Given the description of an element on the screen output the (x, y) to click on. 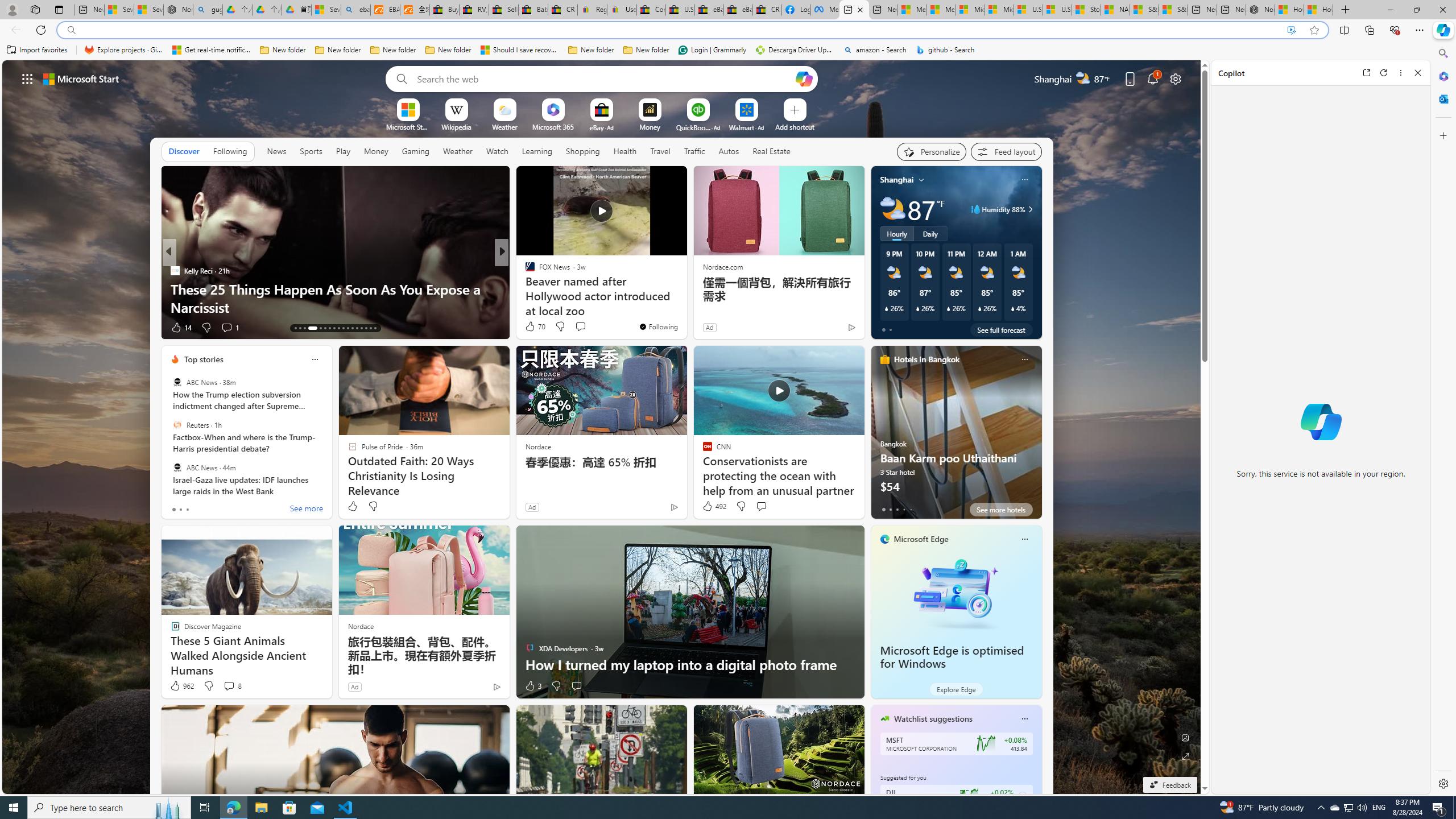
Feed settings (1005, 151)
App launcher (27, 78)
Yellowstone coyote not alone; can you spot the other mammal? (684, 298)
See full forecast (1000, 329)
Meta Store (825, 9)
